Given the description of an element on the screen output the (x, y) to click on. 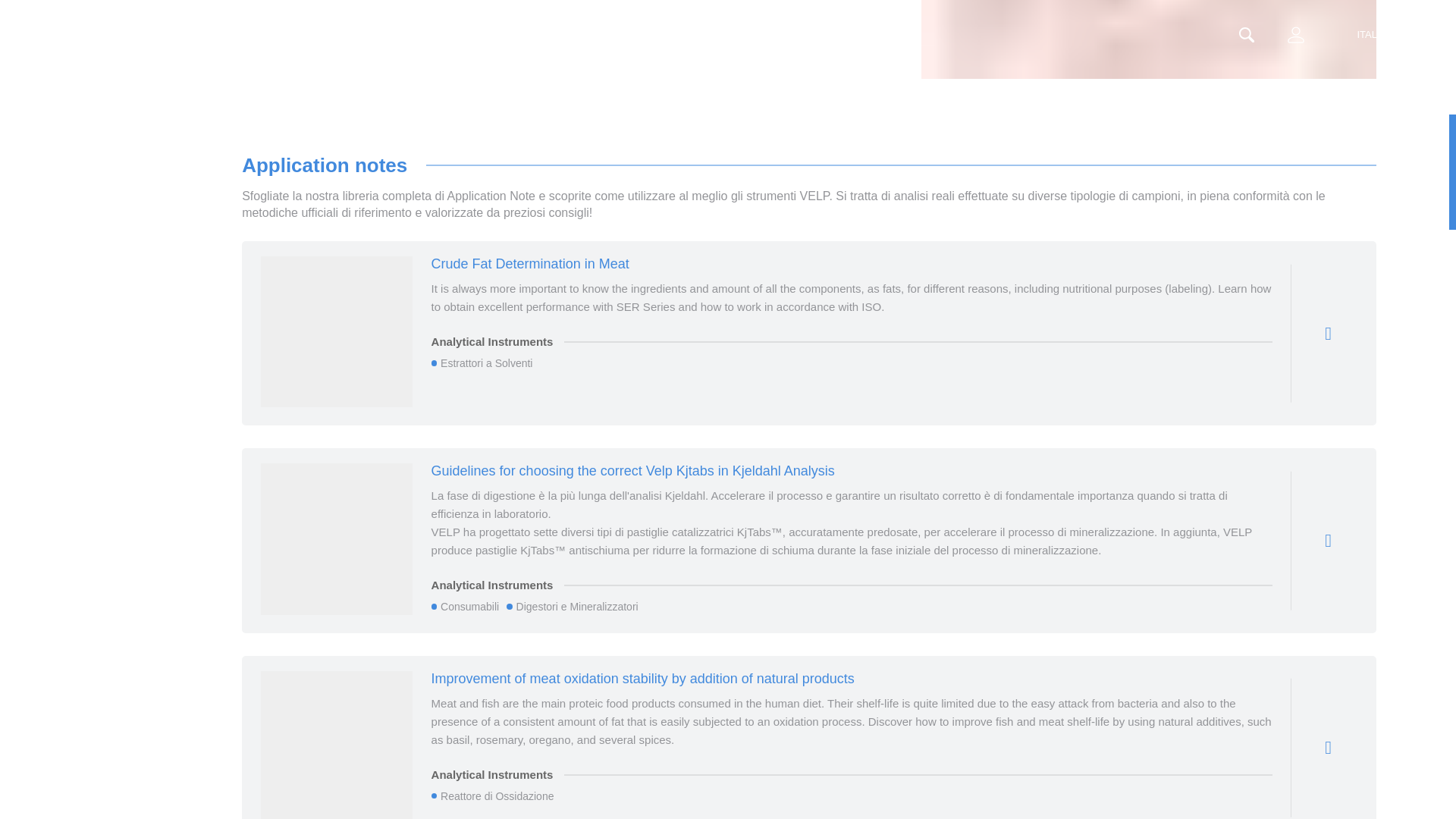
CARNI E DERIVATI (1148, 39)
